Given the description of an element on the screen output the (x, y) to click on. 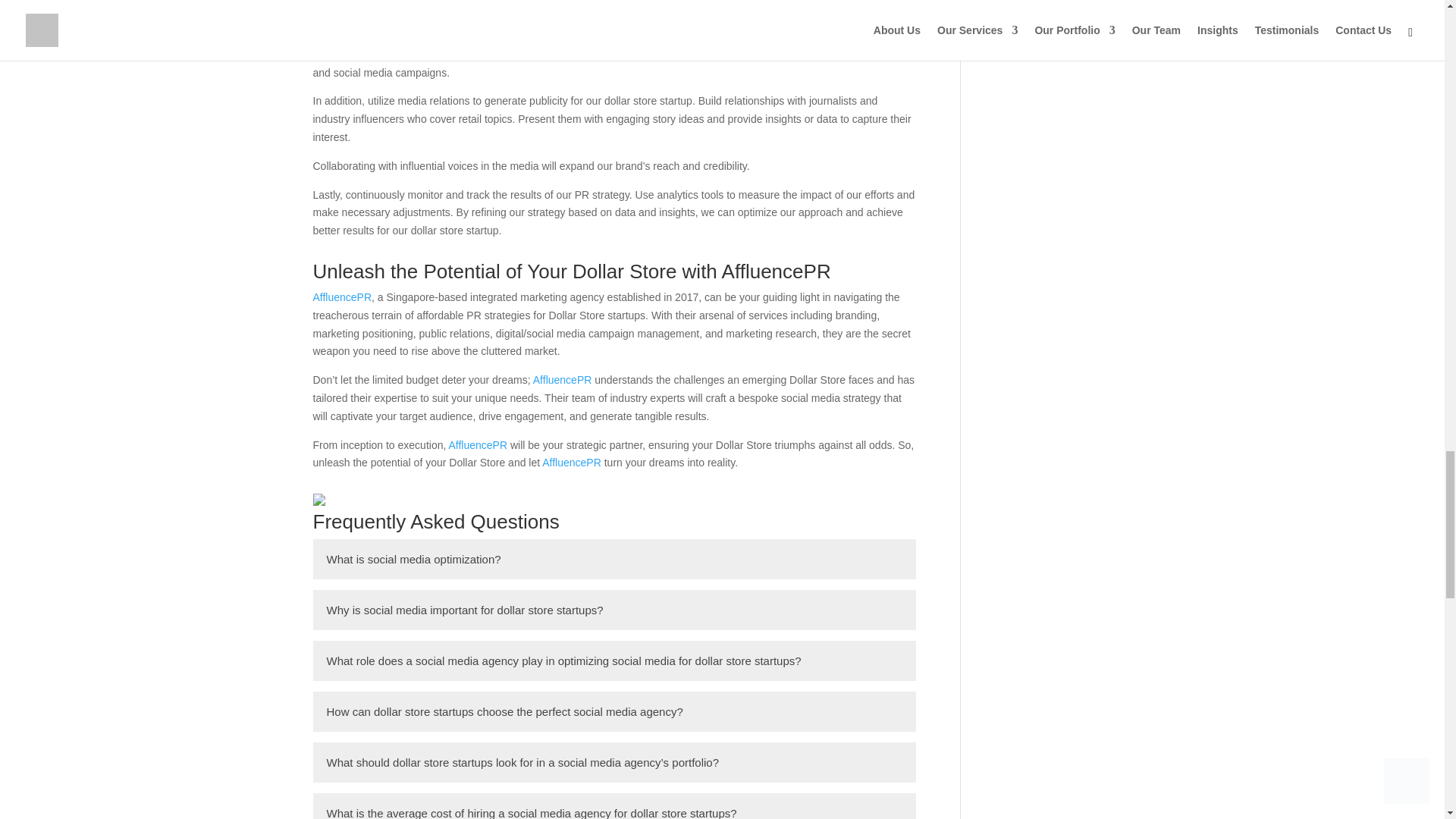
AffluencePR (342, 297)
AffluencePR (562, 379)
Why is social media important for dollar store startups? (614, 609)
AffluencePR (478, 444)
AffluencePR (571, 462)
What is social media optimization? (614, 558)
